Given the description of an element on the screen output the (x, y) to click on. 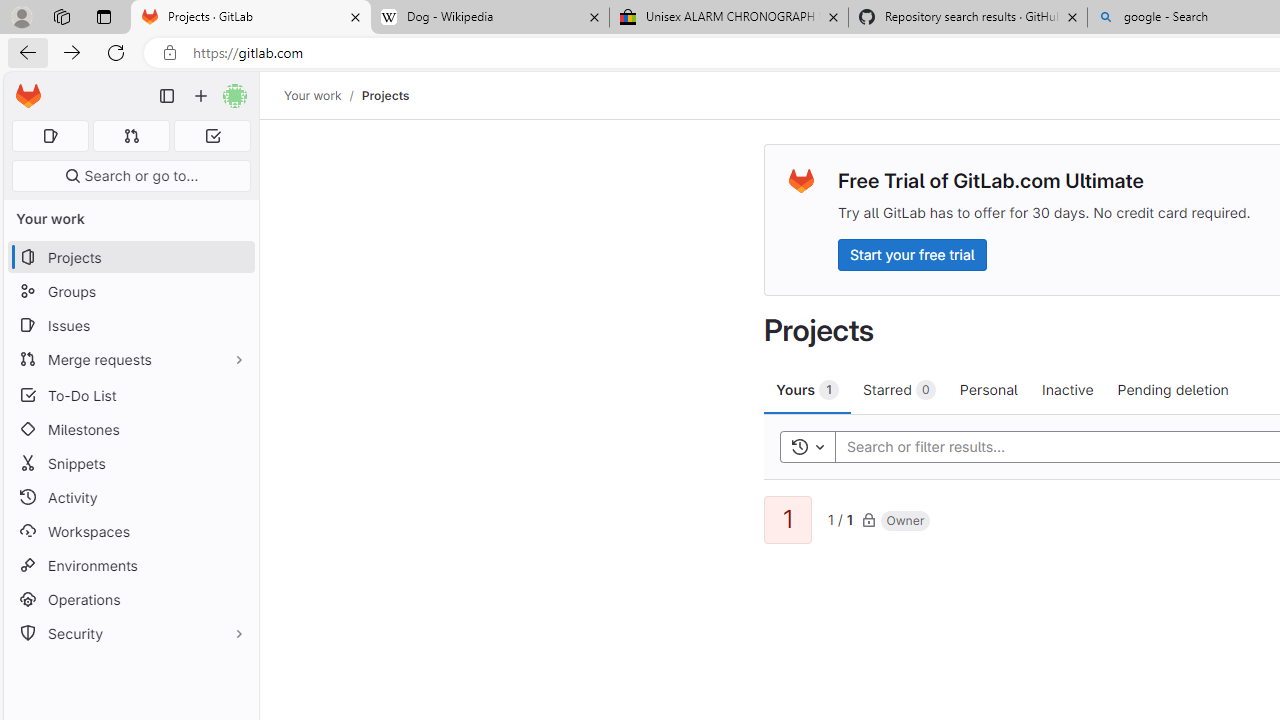
Issues (130, 325)
Personal (988, 389)
Snippets (130, 463)
Groups (130, 291)
Milestones (130, 429)
Dog - Wikipedia (490, 17)
Milestones (130, 429)
Operations (130, 599)
Environments (130, 564)
To-Do List (130, 394)
Security (130, 633)
